Given the description of an element on the screen output the (x, y) to click on. 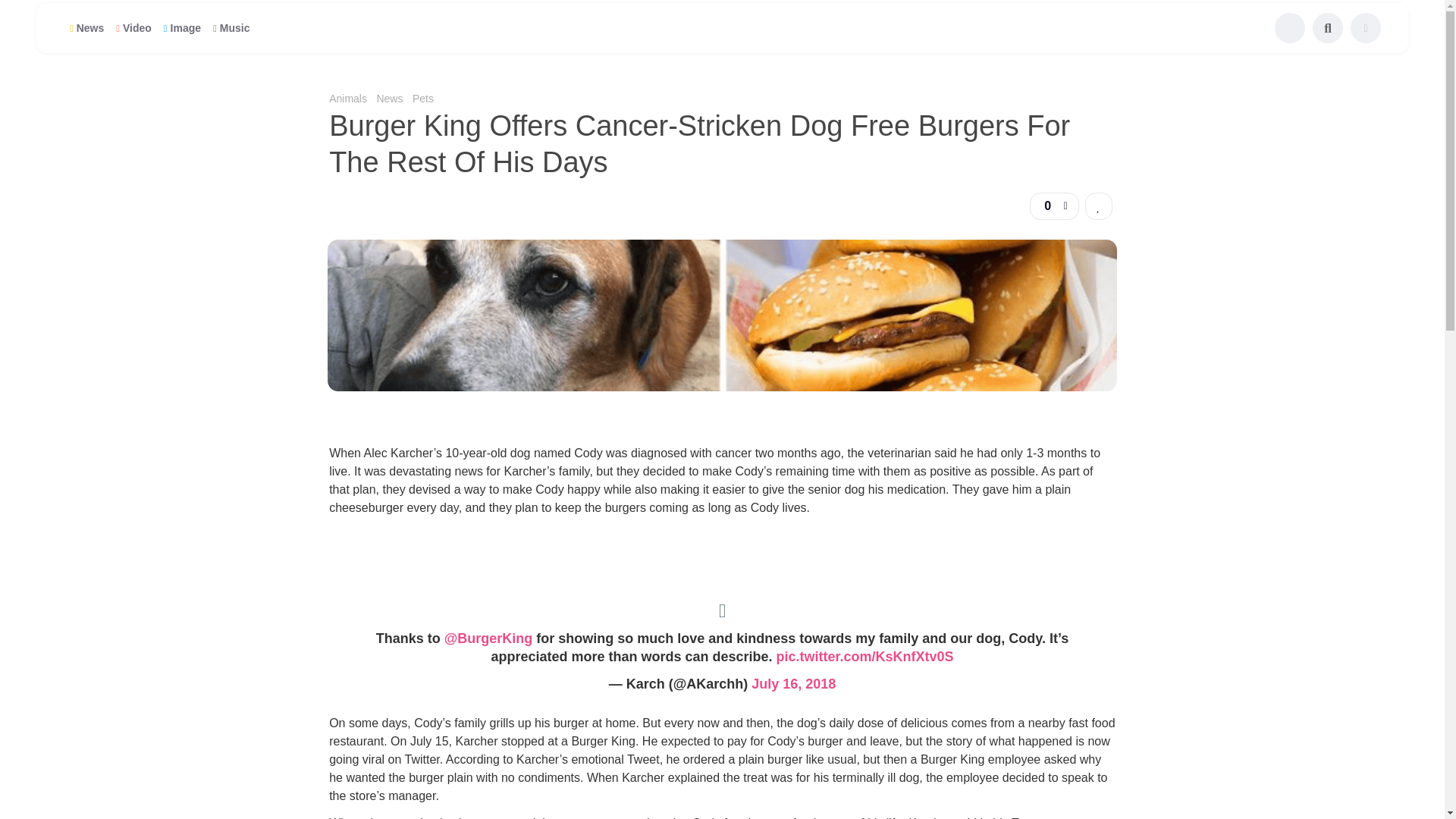
Pets (422, 98)
Video (133, 27)
July 16, 2018 (793, 683)
Image (181, 27)
Animals (347, 98)
0 (1053, 206)
News (87, 27)
Music (231, 27)
News (389, 98)
